Given the description of an element on the screen output the (x, y) to click on. 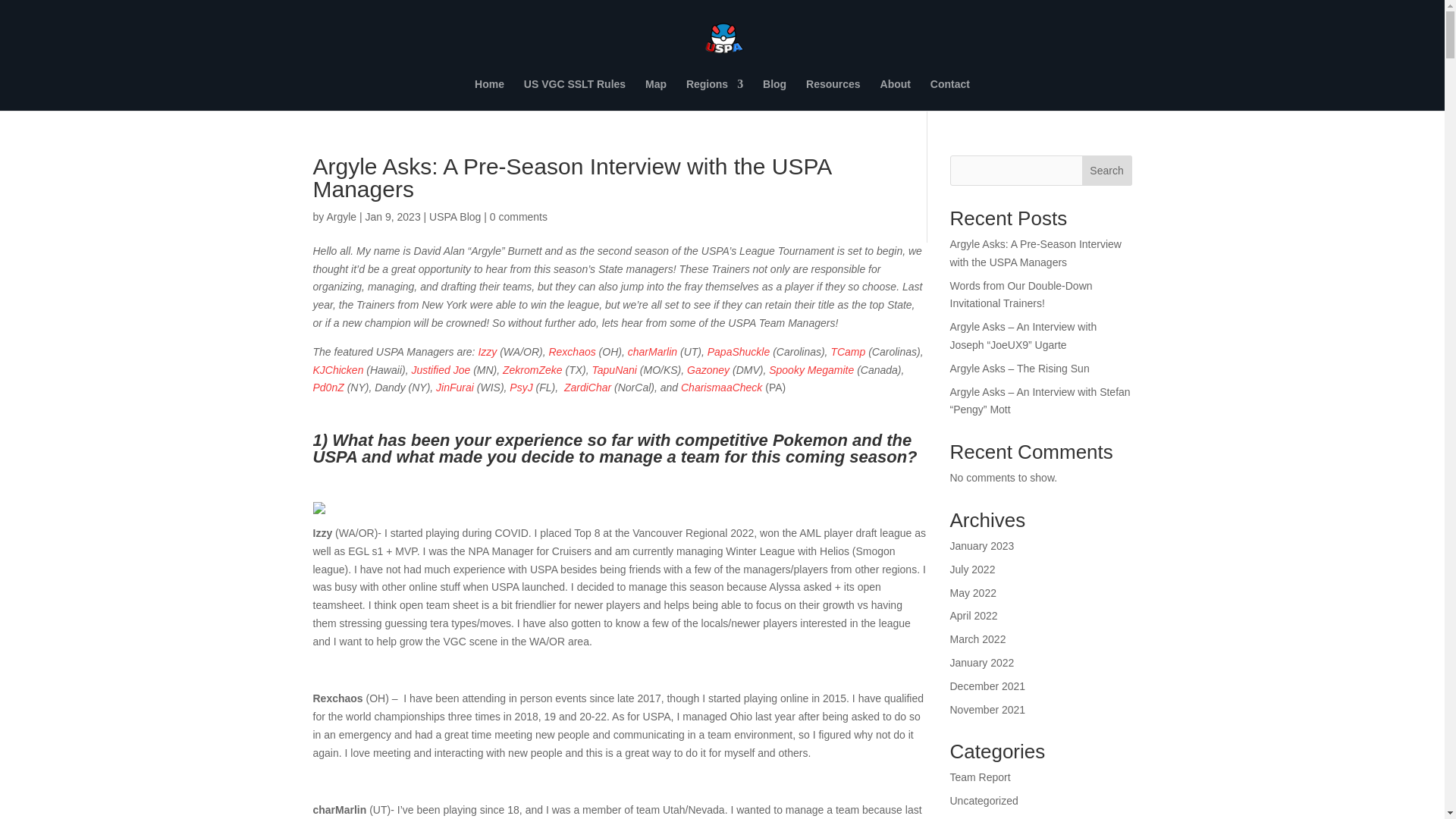
Home (488, 94)
Regions (713, 94)
US VGC SSLT Rules (575, 94)
Posts by Argyle (341, 216)
